Given the description of an element on the screen output the (x, y) to click on. 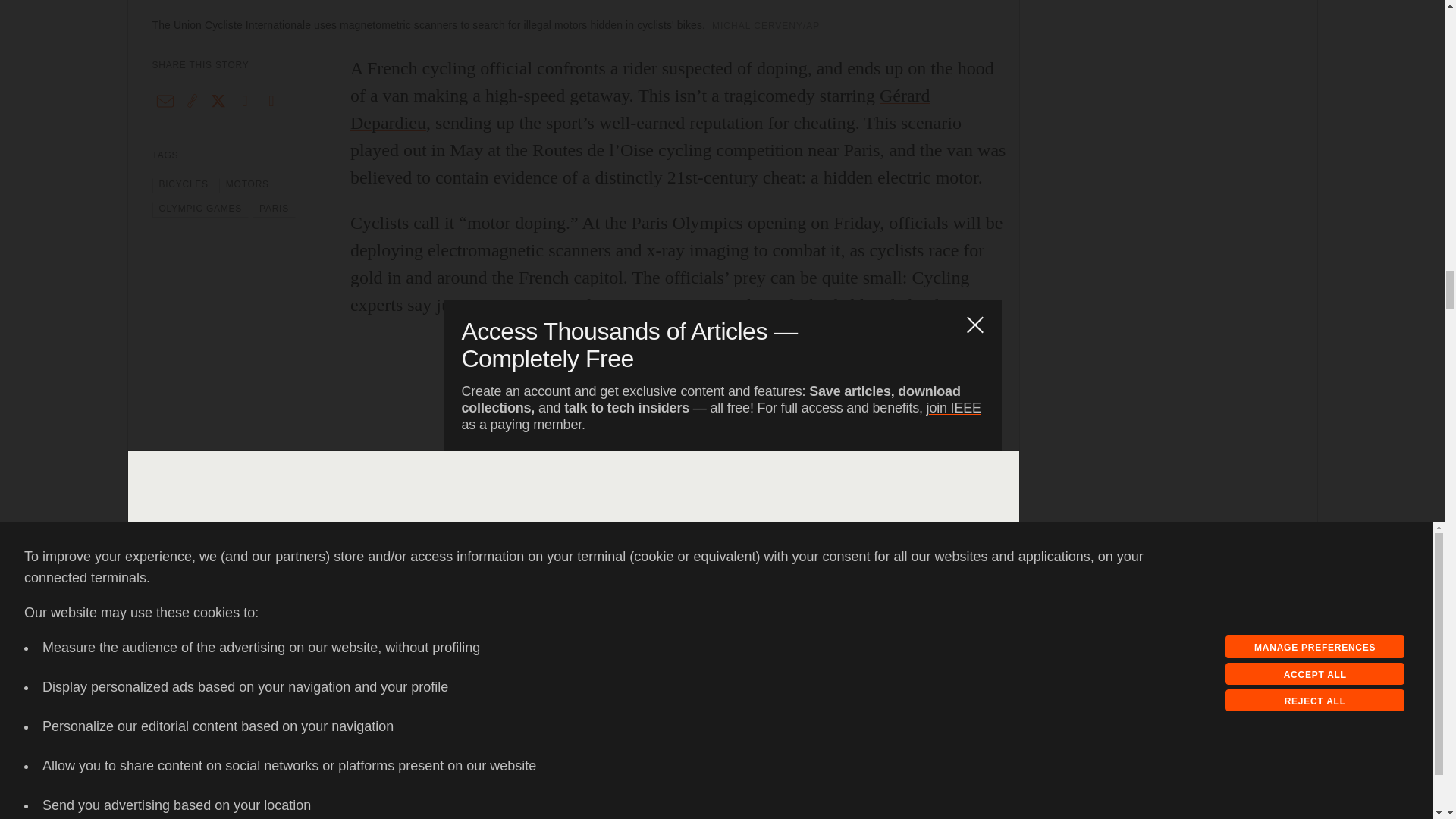
Copy this link to clipboard (192, 99)
